Given the description of an element on the screen output the (x, y) to click on. 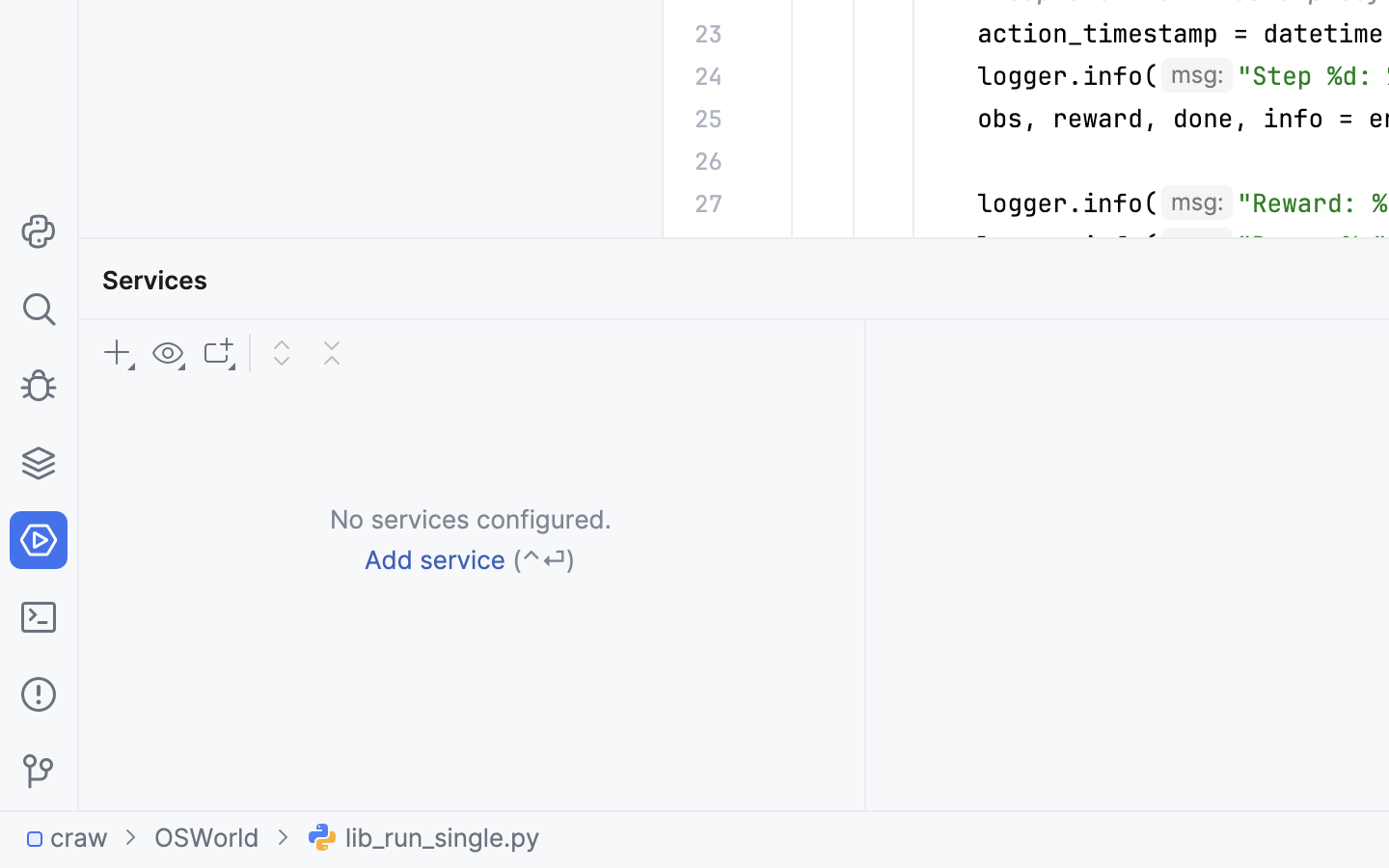
Installed Element type: AXStaticText (157, 401)
Python Packages Element type: AXStaticText (211, 279)
